Given the description of an element on the screen output the (x, y) to click on. 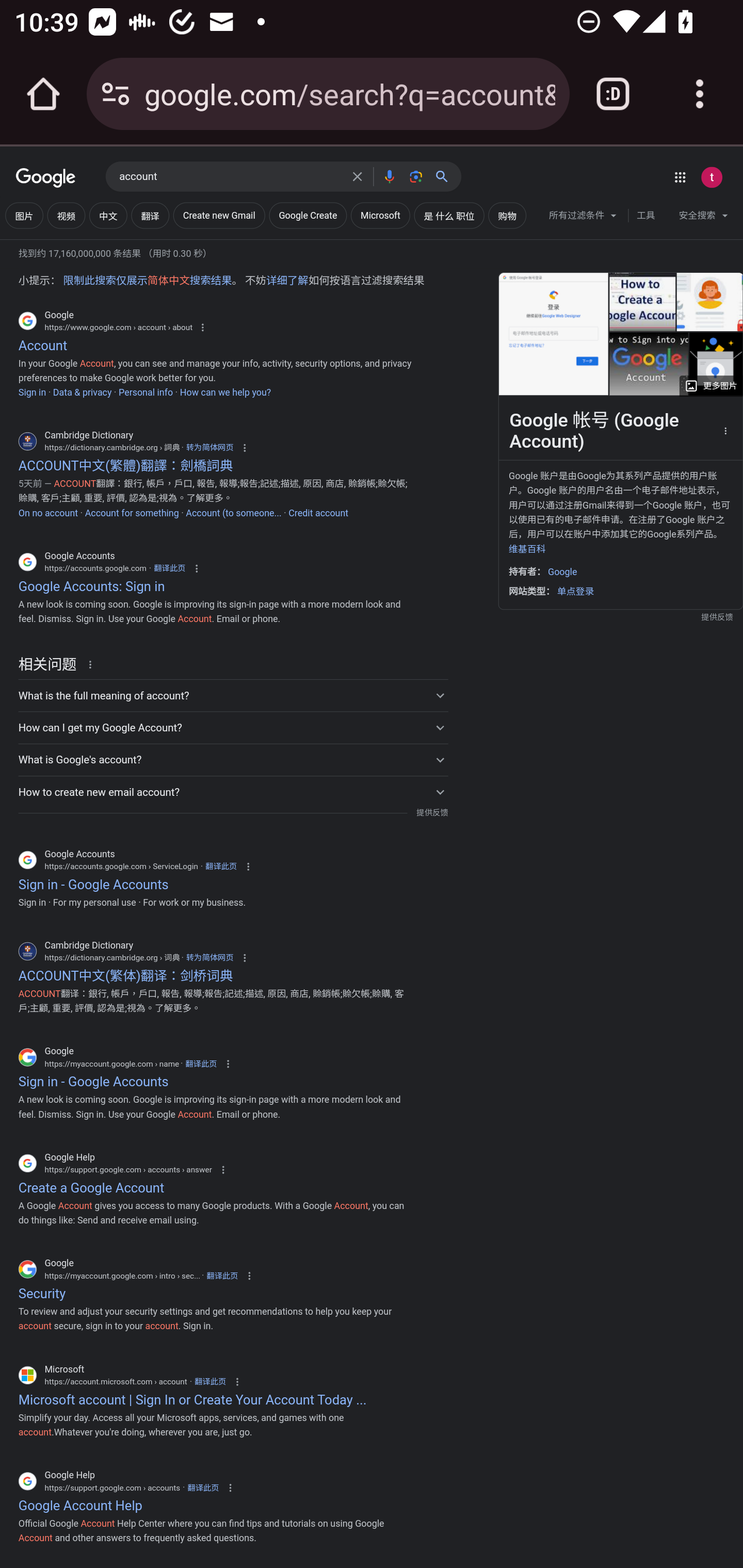
Open the home page (43, 93)
Connection is secure (115, 93)
Switch or close tabs (612, 93)
Customize and control Google Chrome (699, 93)
清除 (357, 176)
按语音搜索 (388, 176)
按图搜索 (415, 176)
搜索 (445, 176)
Google 应用 (679, 176)
Google 账号： test appium (testappium002@gmail.com) (711, 176)
Google (45, 178)
account (229, 177)
图片 (24, 215)
视频 (65, 215)
添加“中文” 中文 (107, 215)
添加“翻译” 翻译 (149, 215)
添加“Create new Gmail” Create new Gmail (218, 215)
添加“Google Create” Google Create (307, 215)
添加“Microsoft” Microsoft (380, 215)
添加“是 什么 职位” 是 什么 职位 (449, 215)
购物 (506, 215)
所有过滤条件 (583, 217)
工具 (645, 215)
安全搜索 (703, 217)
限制此搜索仅展示简体中文搜索结果 限制此搜索仅展示 简体中文 搜索结果 (146, 280)
详细了解 (287, 280)
Sign in (31, 392)
Data & privacy (82, 392)
Personal info (145, 392)
How can we help you? (225, 392)
转为简体网页 (209, 448)
On no account (47, 512)
Account for something (131, 512)
Account (to someone... (233, 512)
Credit account (318, 512)
翻译此页 (169, 567)
关于这条结果的详细信息 (93, 663)
What is the full meaning of account? (232, 694)
How can I get my Google Account? (232, 727)
What is Google's account? (232, 759)
How to create new email account? (232, 790)
提供反馈 (432, 812)
翻译此页 (221, 866)
转为简体网页 (209, 957)
翻译此页 (200, 1062)
翻译此页 (221, 1276)
翻译此页 (209, 1381)
翻译此页 (202, 1487)
